Given the description of an element on the screen output the (x, y) to click on. 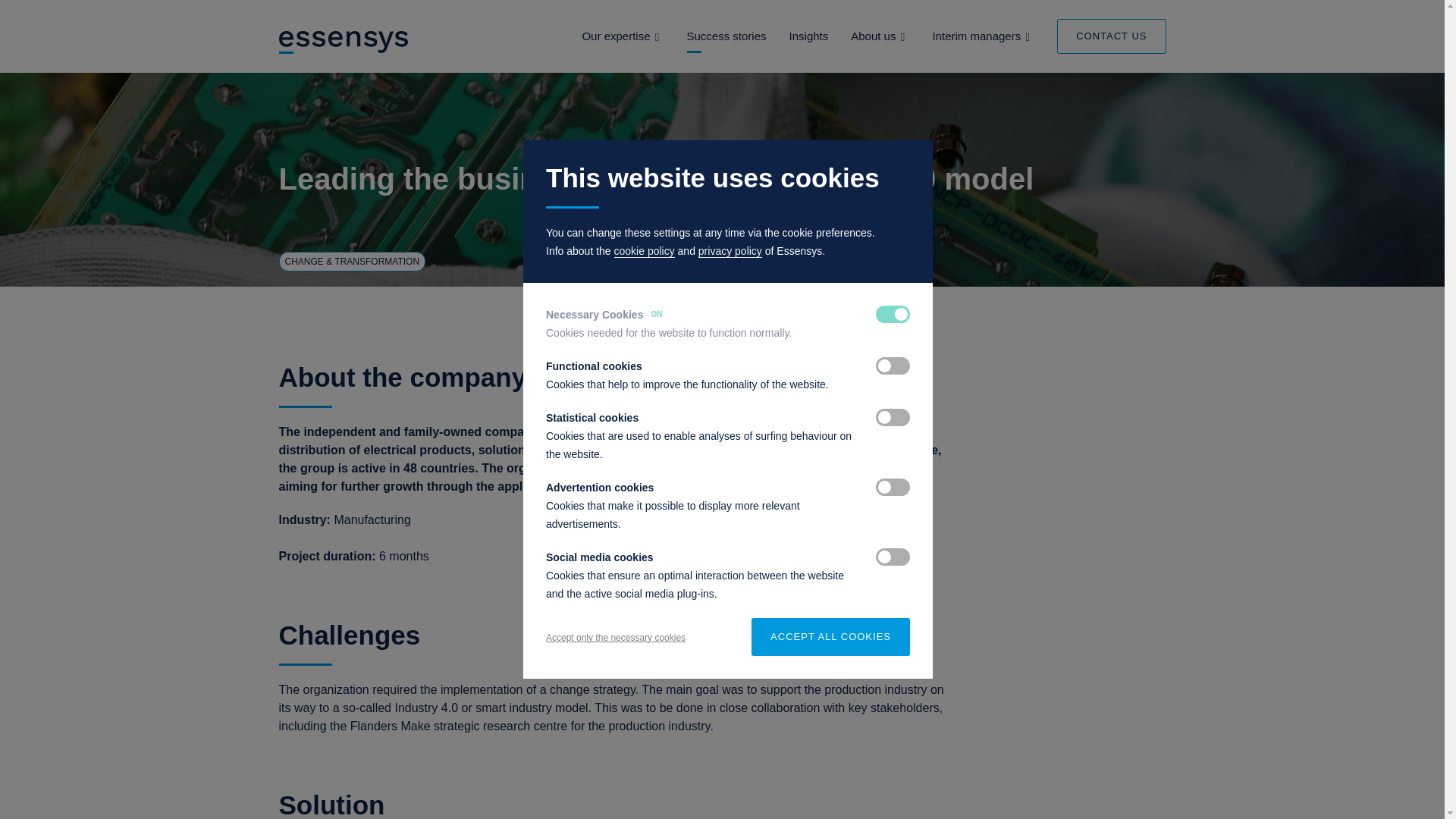
About us (872, 35)
Home (344, 41)
CONTACT US (1111, 36)
privacy policy (729, 250)
Success stories (727, 35)
Our expertise (614, 35)
ACCEPT ALL COOKIES (830, 637)
Insights (808, 35)
cookie policy (644, 250)
